Given the description of an element on the screen output the (x, y) to click on. 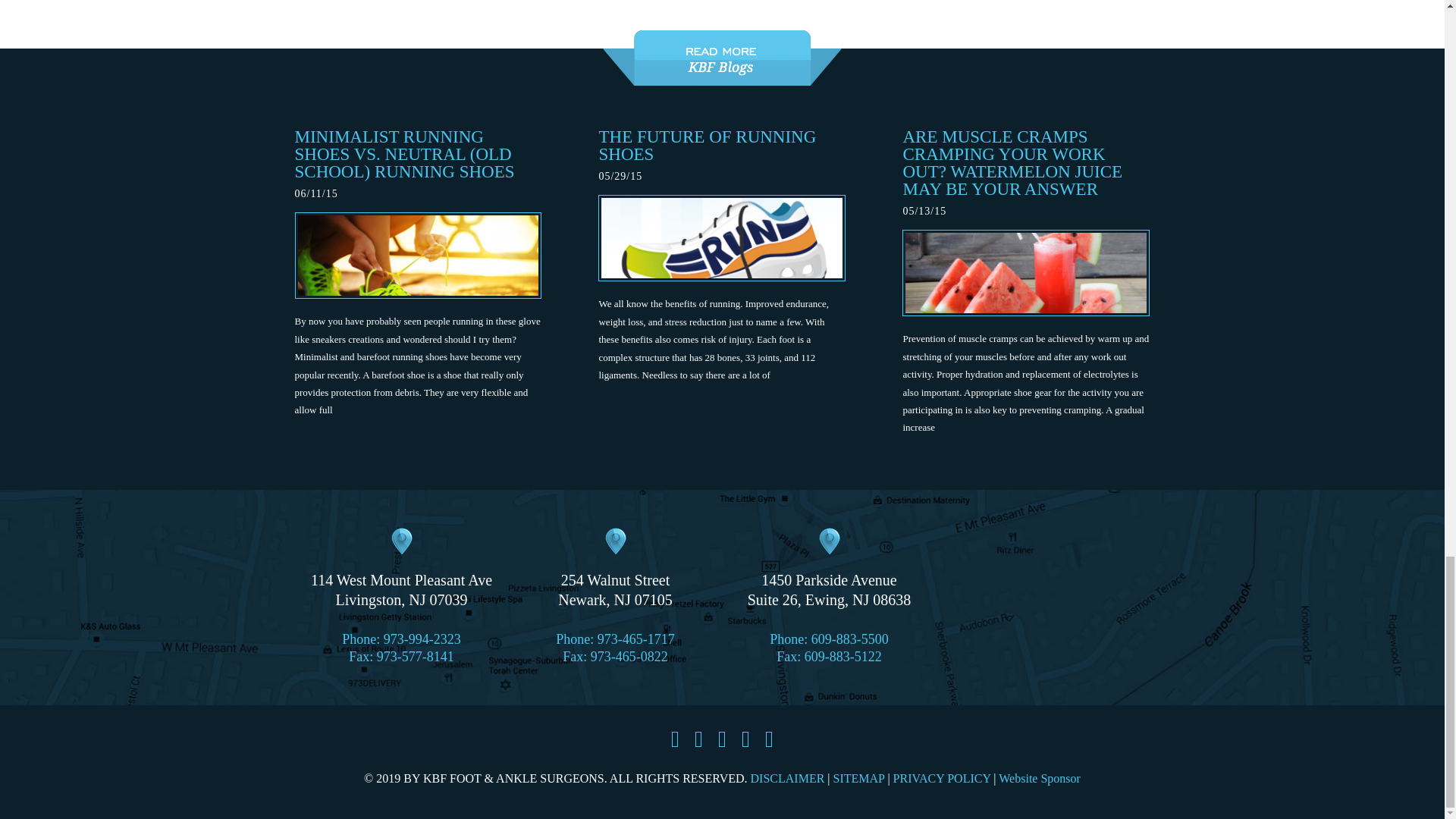
609-883-5500 (829, 567)
973-465-1717 (849, 639)
973-577-8141 (635, 639)
973-994-2323 (415, 656)
The Future of Running Shoes (615, 567)
973-465-0822 (401, 567)
609-883-5122 (422, 639)
THE FUTURE OF RUNNING SHOES (706, 145)
